Given the description of an element on the screen output the (x, y) to click on. 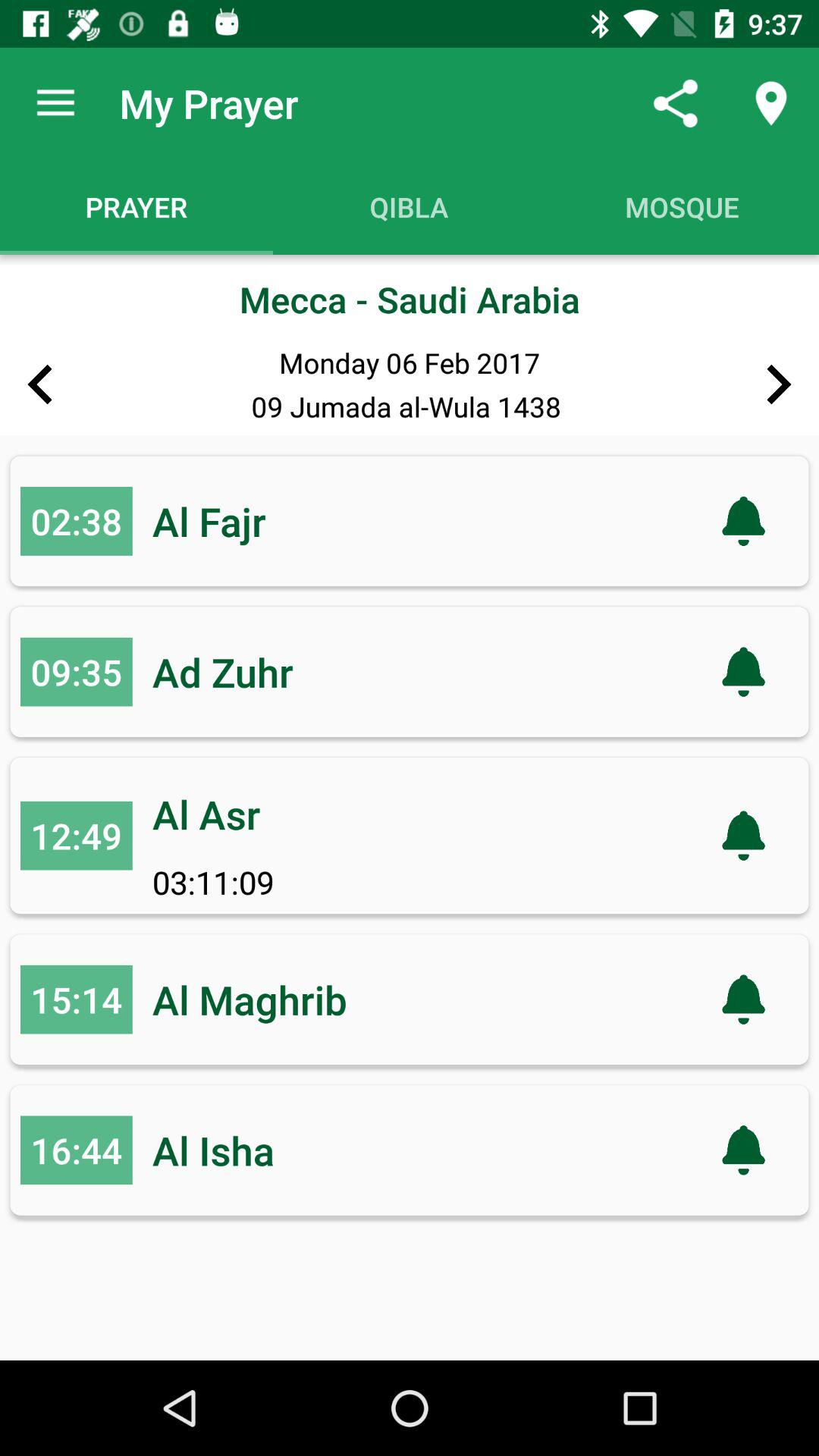
turn off app next to my prayer icon (55, 103)
